Given the description of an element on the screen output the (x, y) to click on. 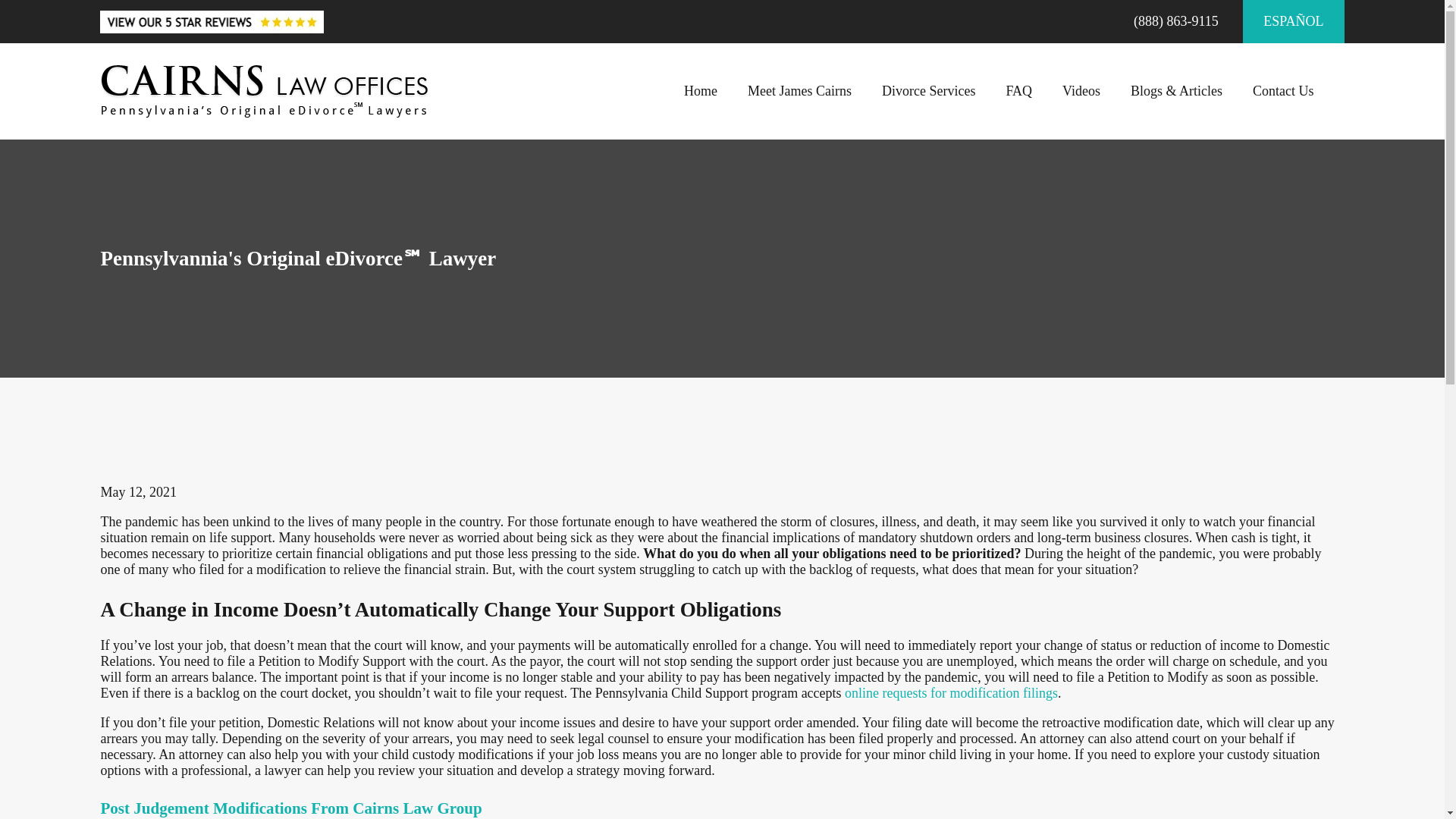
Home (264, 91)
Meet James Cairns (799, 91)
Divorce Services (928, 91)
